Given the description of an element on the screen output the (x, y) to click on. 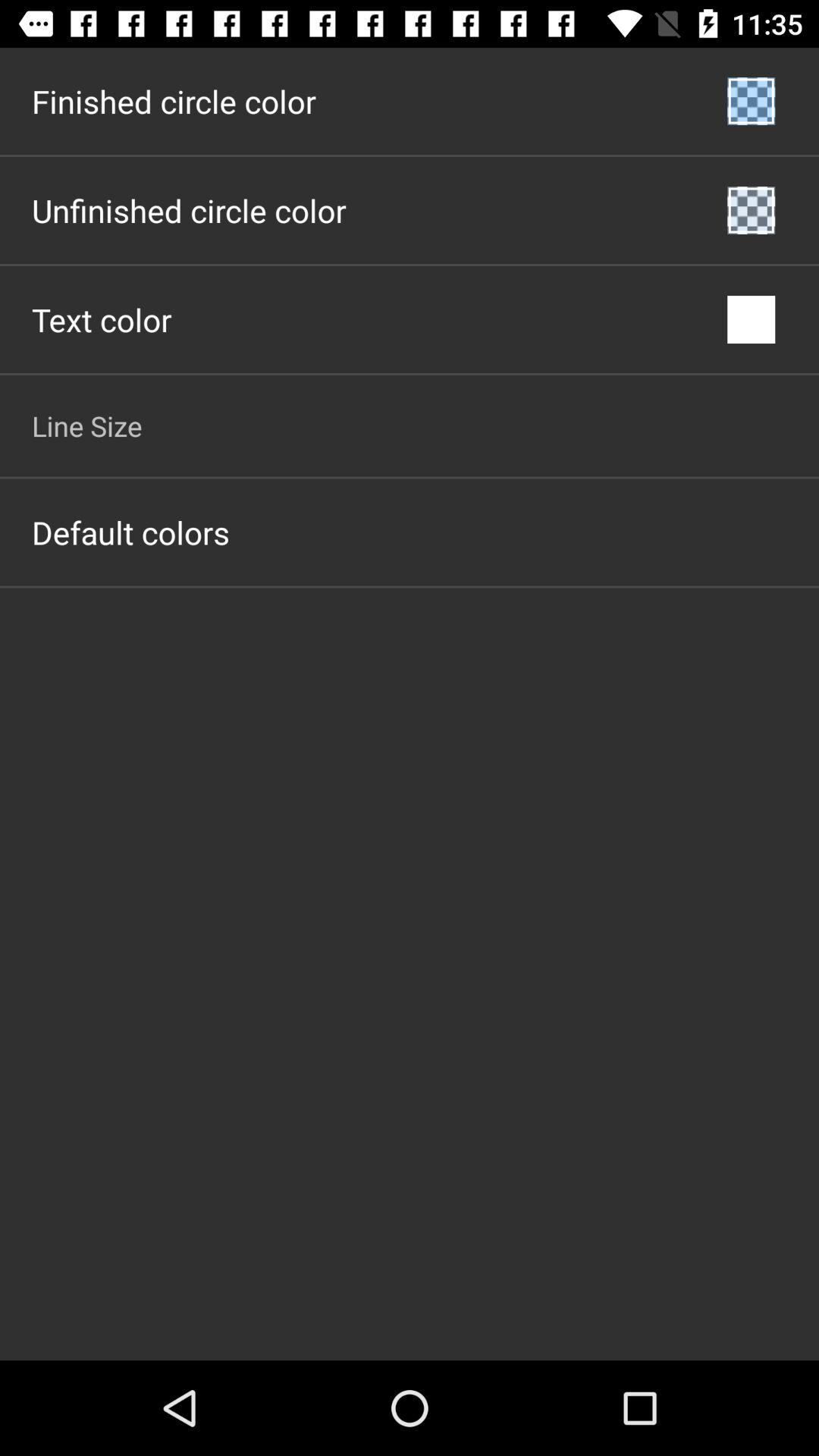
select app to the right of the unfinished circle color (751, 210)
